Given the description of an element on the screen output the (x, y) to click on. 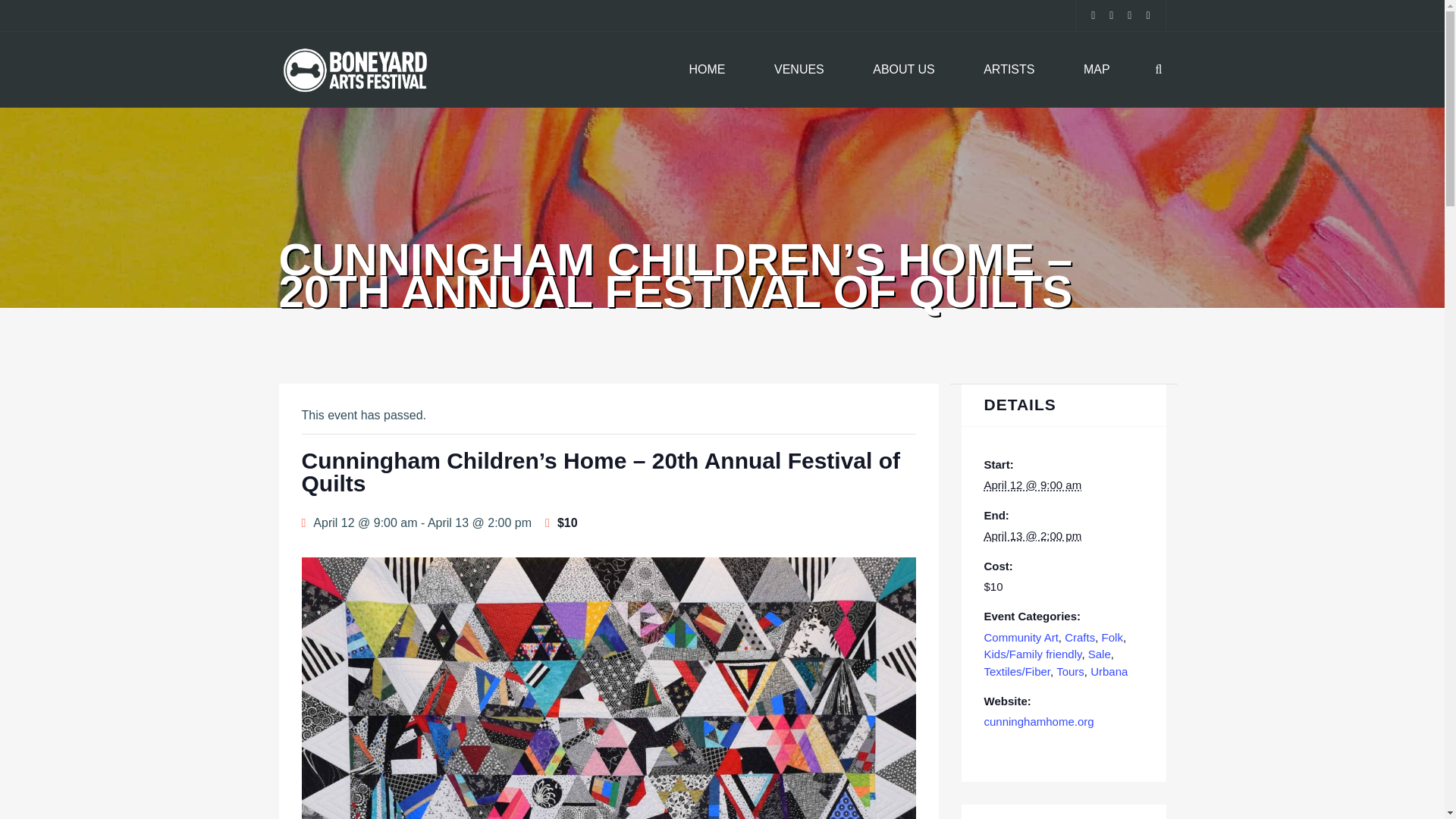
MAP (1096, 69)
2024-04-12 (1032, 484)
2024-04-13 (1032, 535)
Folk (1112, 636)
Boneyard Arts Festival (356, 69)
HOME (707, 69)
ARTISTS (1008, 69)
Urbana (1108, 671)
Sale (1098, 653)
Tours (1070, 671)
ABOUT US (904, 69)
VENUES (799, 69)
Crafts (1079, 636)
Community Art (1021, 636)
cunninghamhome.org (1039, 721)
